Given the description of an element on the screen output the (x, y) to click on. 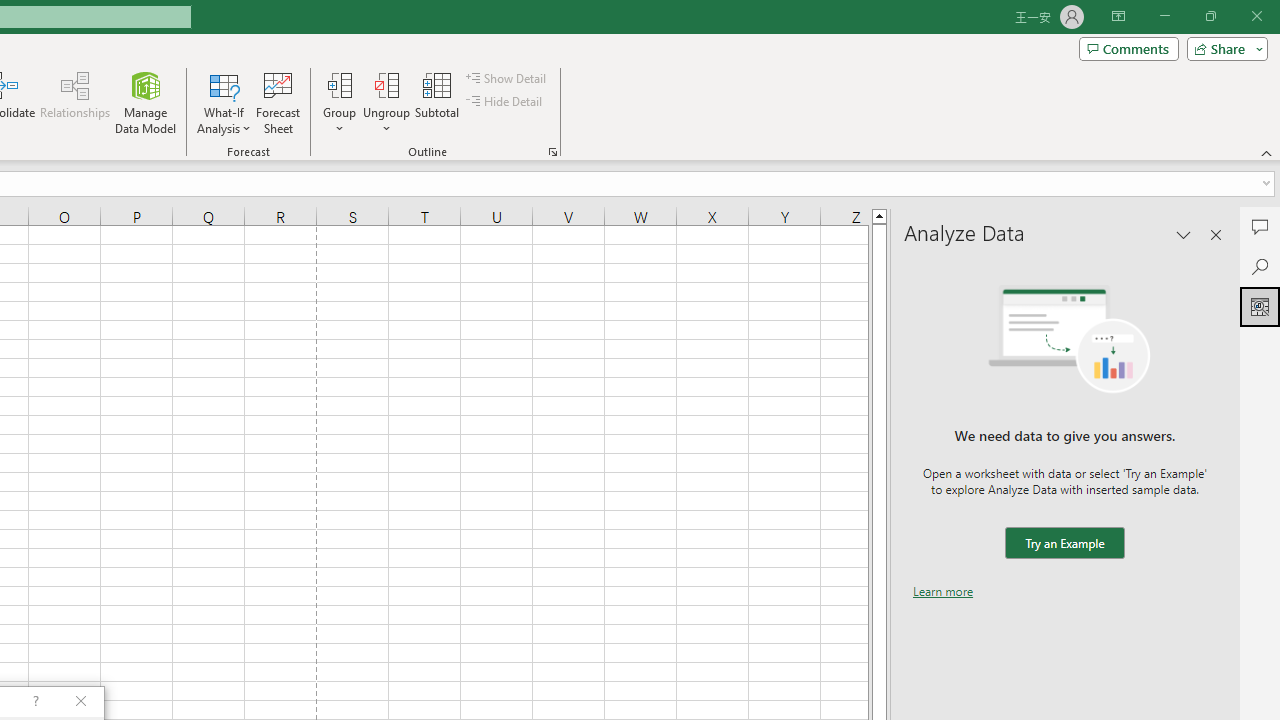
Share (1223, 48)
Collapse the Ribbon (1267, 152)
Show Detail (507, 78)
Line up (879, 215)
Forecast Sheet (278, 102)
Subtotal (437, 102)
Manage Data Model (145, 102)
More Options (386, 121)
Comments (1128, 48)
What-If Analysis (223, 102)
Relationships (75, 102)
Close (1256, 16)
Group and Outline Settings (552, 151)
Analyze Data (1260, 306)
Hide Detail (505, 101)
